Given the description of an element on the screen output the (x, y) to click on. 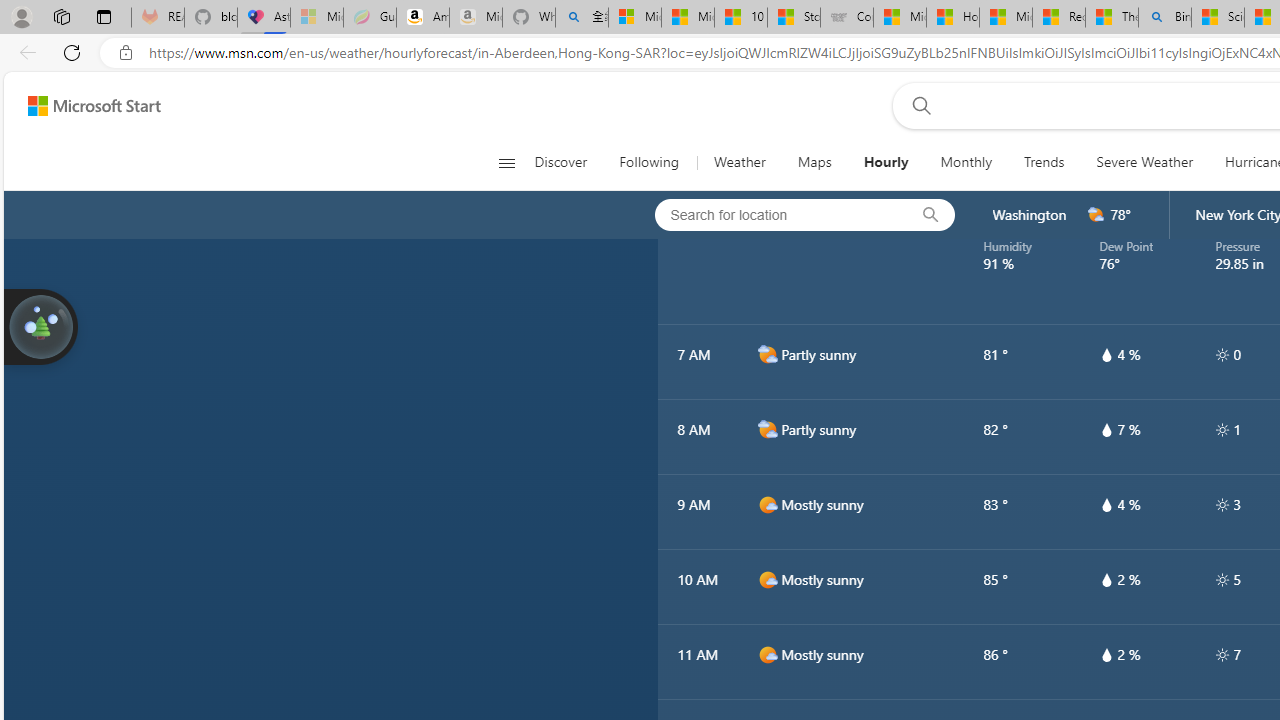
d1000 (767, 655)
Join us in planting real trees to help our planet! (40, 325)
Weather (738, 162)
How I Got Rid of Microsoft Edge's Unnecessary Features (952, 17)
Bing (1165, 17)
Skip to content (86, 105)
Skip to footer (82, 105)
hourlyTable/uv (1222, 654)
Hourly (885, 162)
Science - MSN (1217, 17)
Monthly (966, 162)
